Given the description of an element on the screen output the (x, y) to click on. 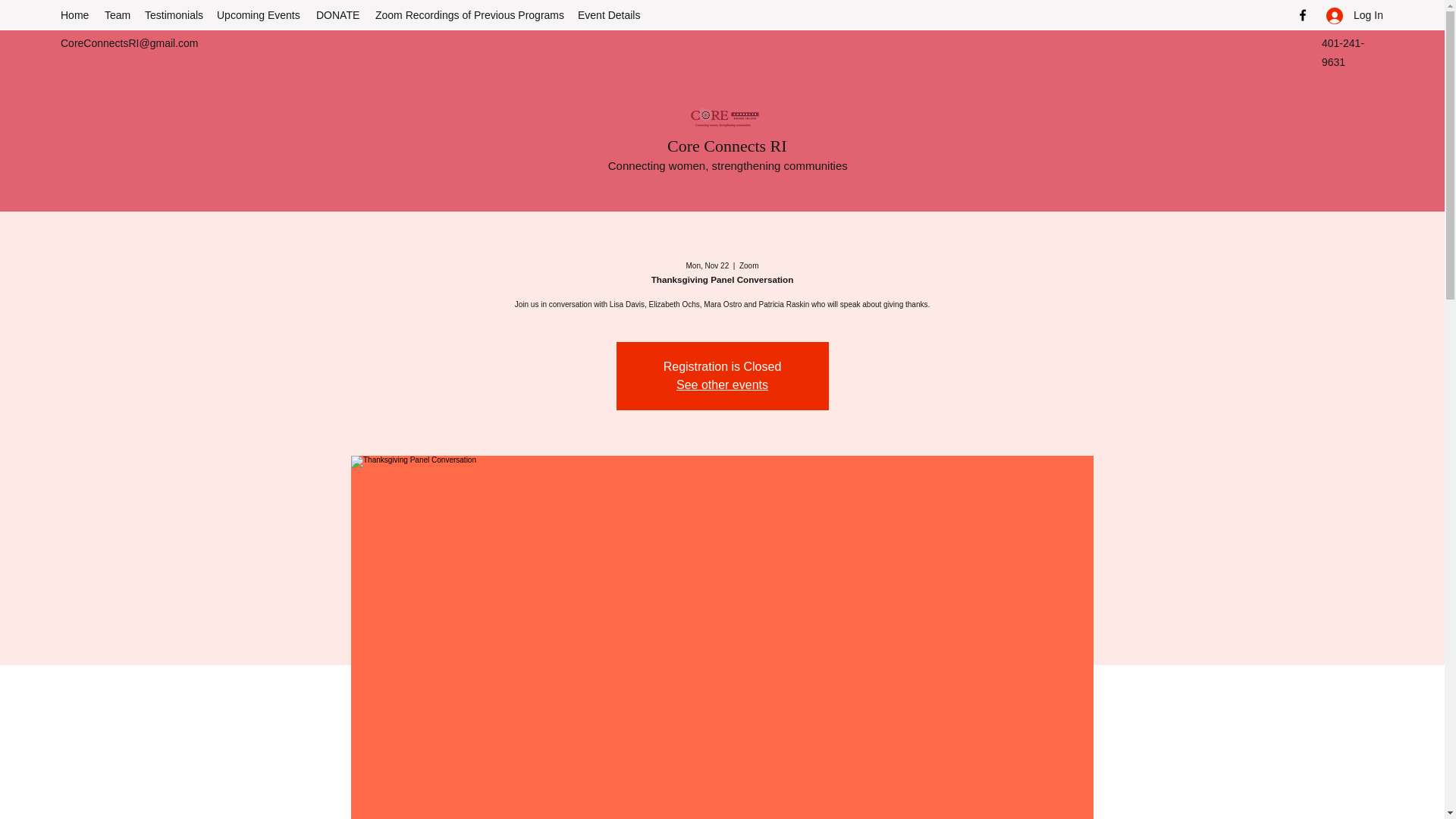
Testimonials (172, 15)
DONATE (338, 15)
Zoom Recordings of Previous Programs (469, 15)
Upcoming Events (258, 15)
Team (116, 15)
Event Details (608, 15)
Log In (1350, 15)
Home (74, 15)
See other events (722, 384)
